Given the description of an element on the screen output the (x, y) to click on. 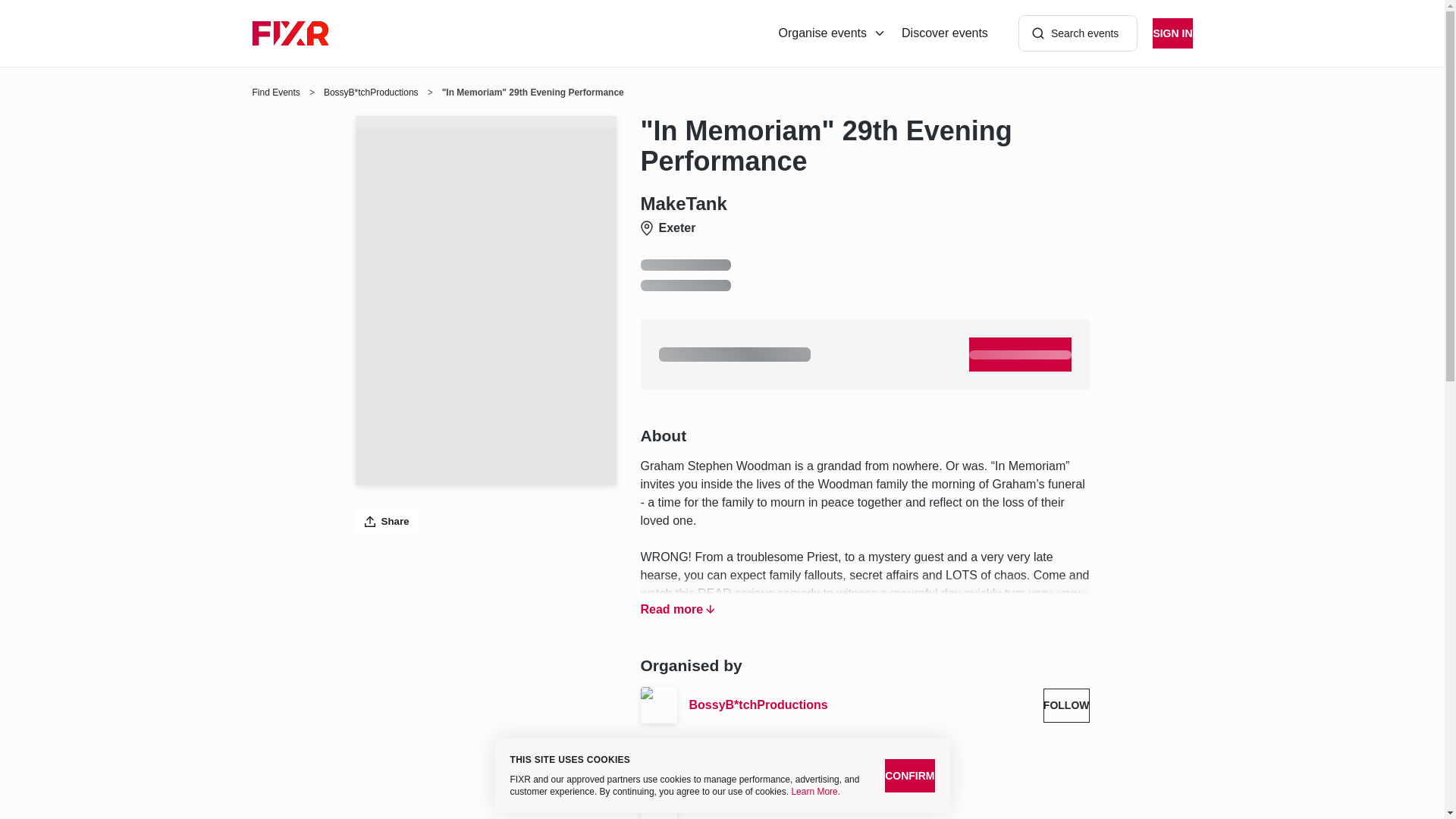
Search events (1077, 33)
"In Memoriam"  29th Evening Performance (864, 146)
Find Events (275, 92)
Share (386, 521)
SIGN IN (1172, 33)
Read more (677, 609)
Discover events (944, 33)
FOLLOW (1066, 705)
PLACEHOLDER TEXT (1020, 354)
Organise events (832, 33)
MakeTank (888, 809)
